Given the description of an element on the screen output the (x, y) to click on. 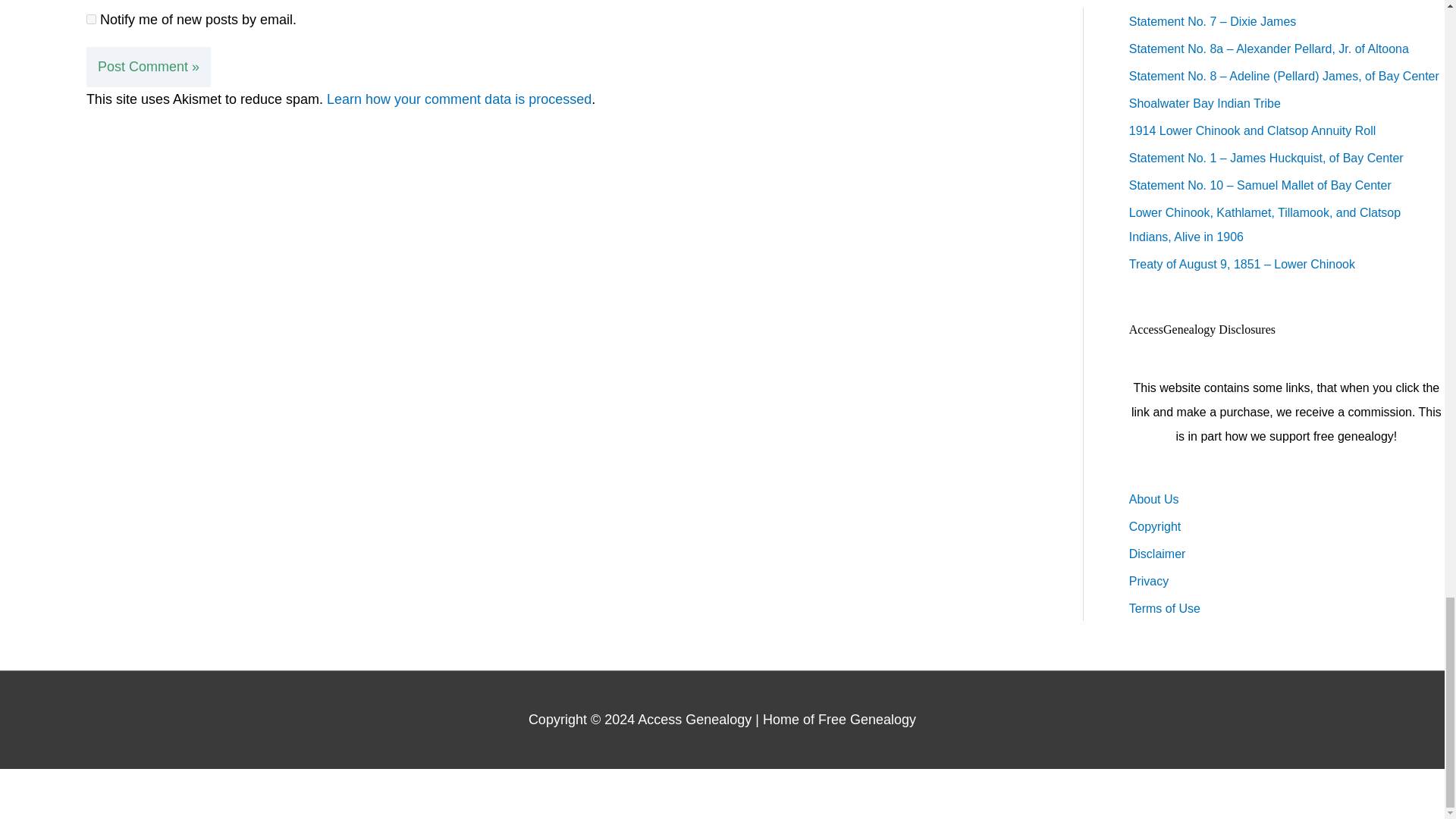
Learn how your comment data is processed (458, 99)
subscribe (90, 19)
